Given the description of an element on the screen output the (x, y) to click on. 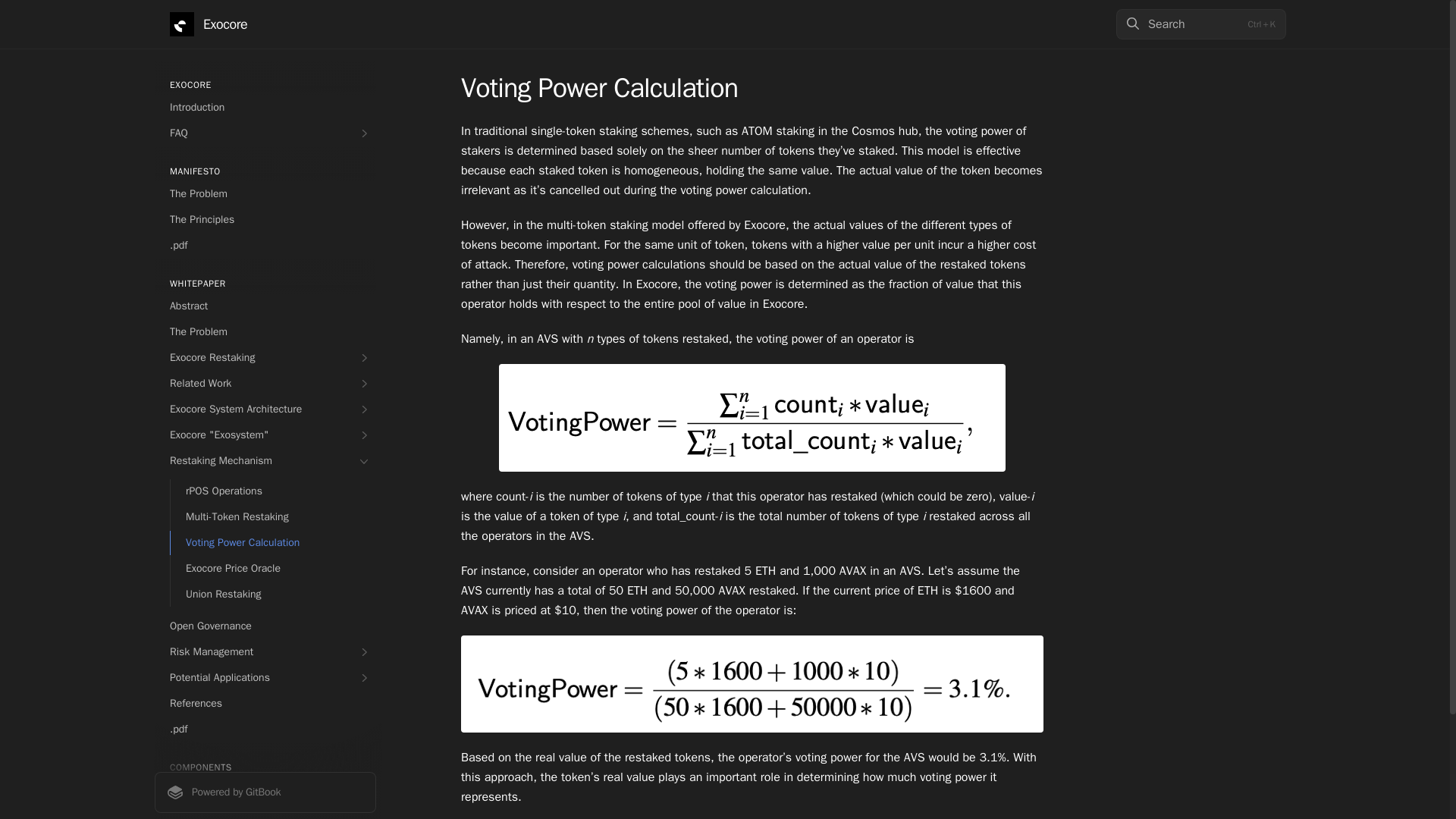
The Problem (264, 193)
Exocore (208, 24)
Exocore System Architecture (264, 409)
The Principles (264, 219)
.pdf (264, 245)
Related Work (264, 383)
Introduction (264, 107)
The Problem (264, 331)
FAQ (264, 133)
Abstract (264, 306)
